Given the description of an element on the screen output the (x, y) to click on. 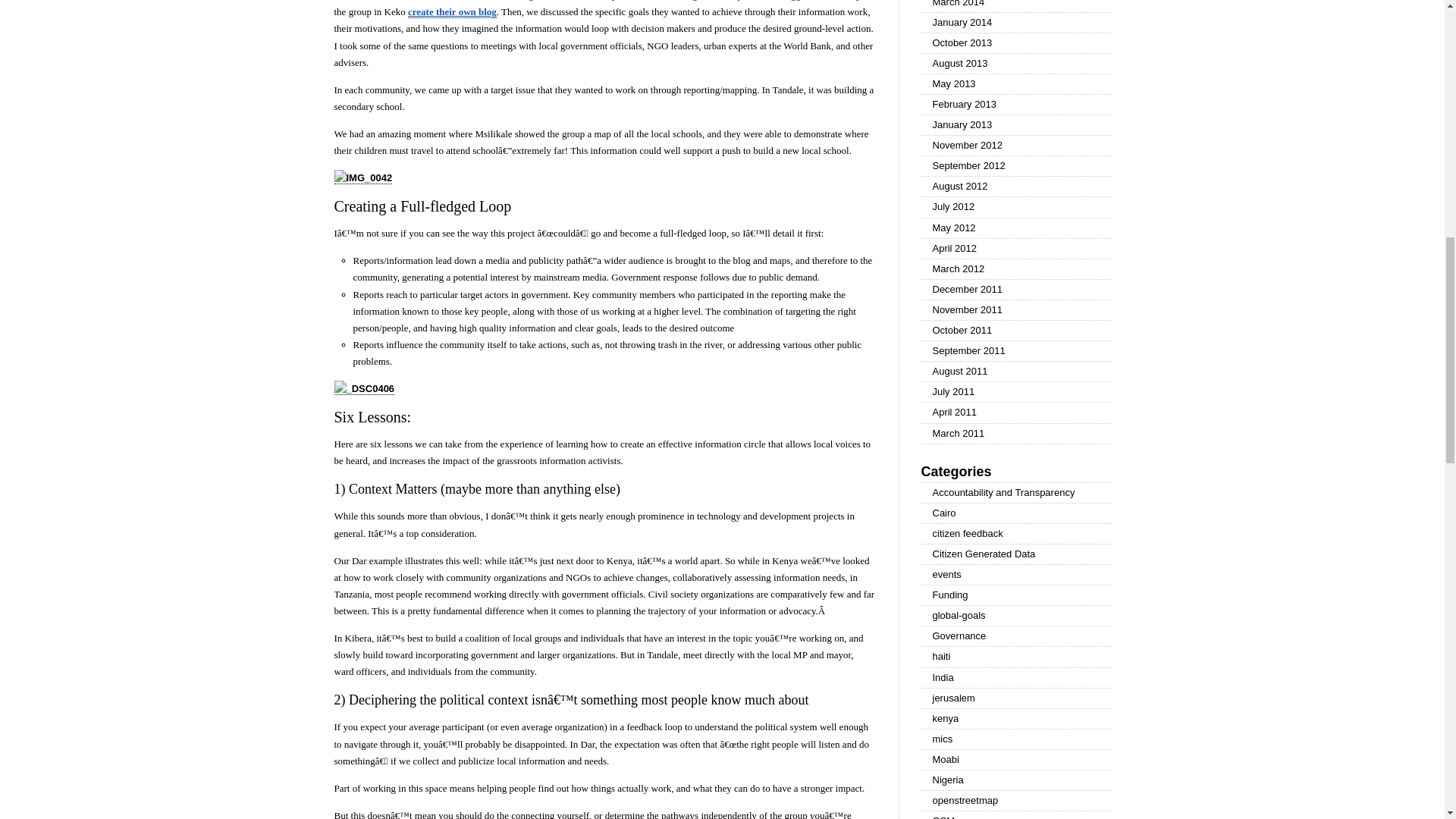
August 2013 (1014, 63)
March 2014 (1014, 6)
create their own blog (451, 11)
October 2013 (1014, 43)
January 2014 (1014, 22)
